Given the description of an element on the screen output the (x, y) to click on. 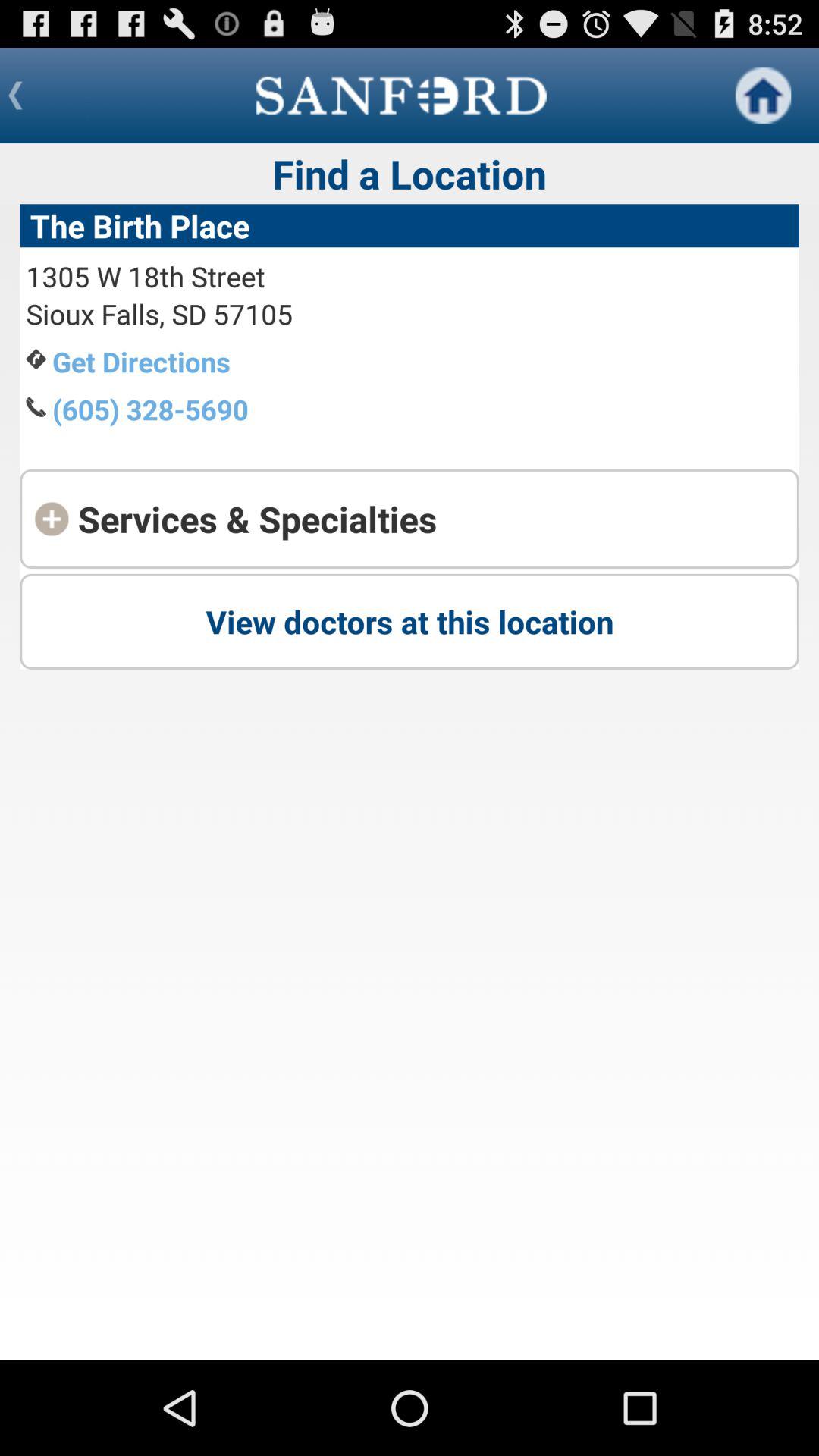
choose the get directions (141, 361)
